Given the description of an element on the screen output the (x, y) to click on. 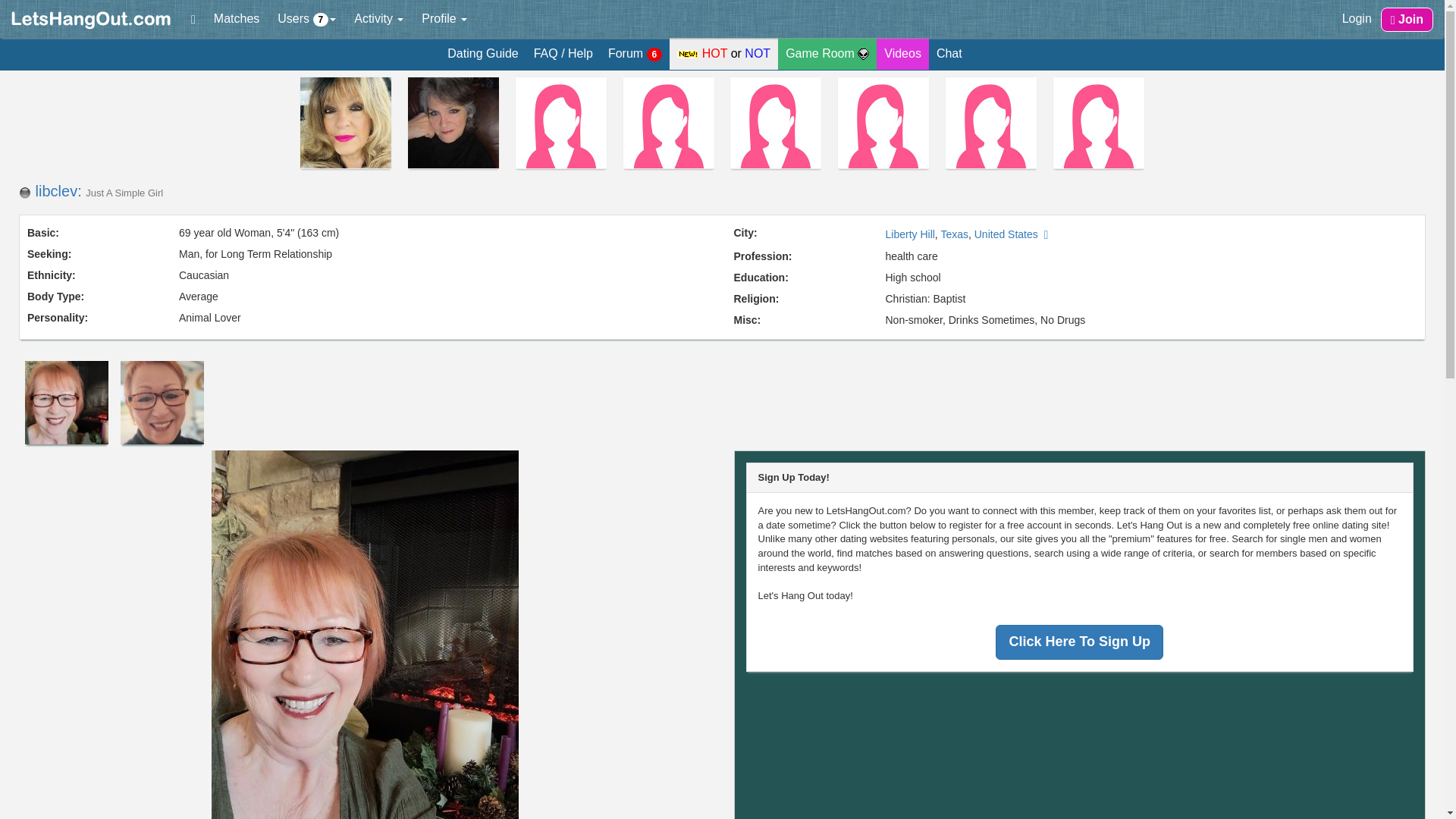
Profile (444, 18)
Matches (236, 18)
Join (1406, 19)
Users 7 (306, 18)
Login (1356, 18)
Activity (378, 18)
member is offline (24, 192)
